Given the description of an element on the screen output the (x, y) to click on. 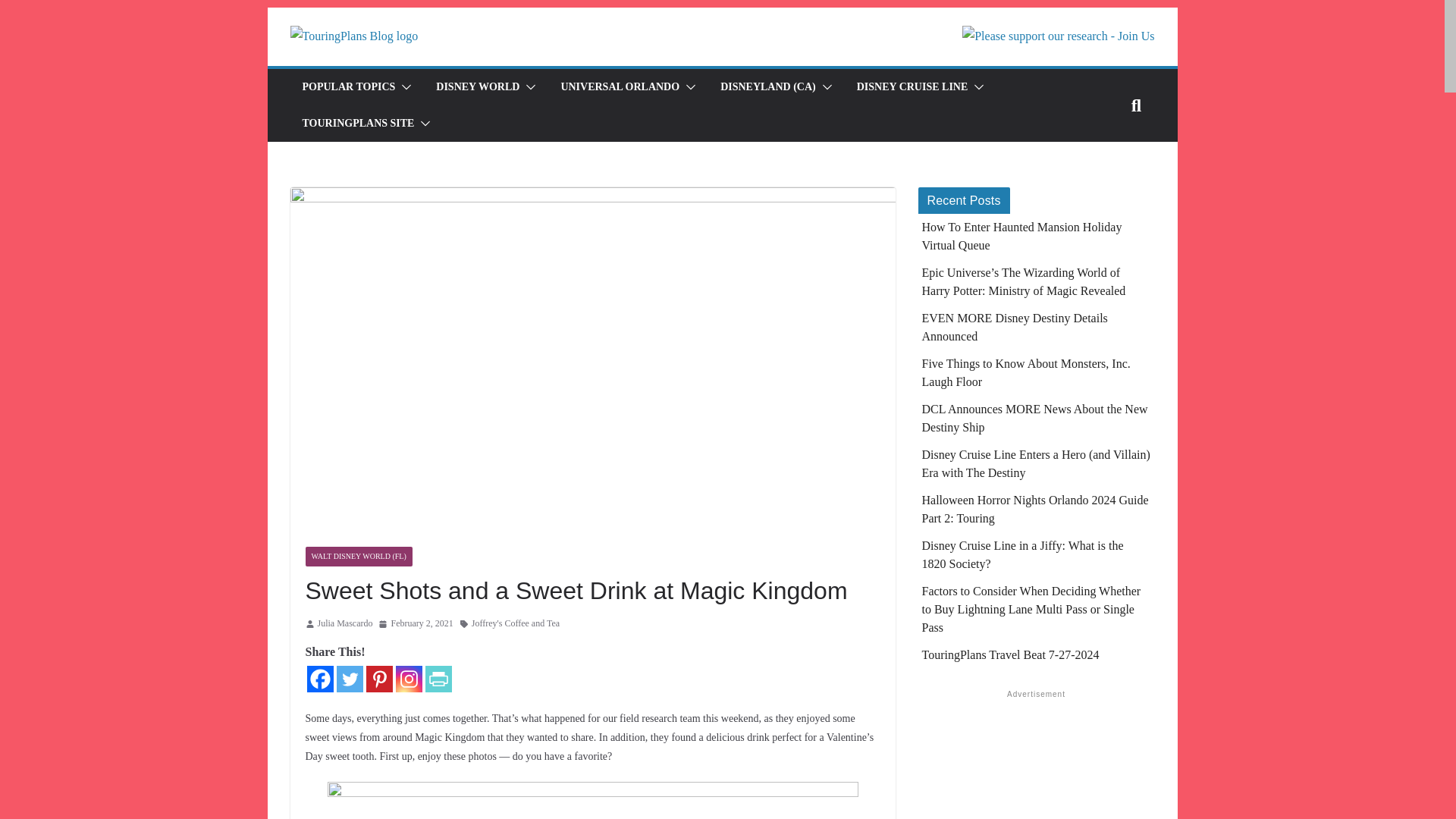
UNIVERSAL ORLANDO (619, 86)
Julia Mascardo (344, 623)
PrintFriendly (438, 678)
Facebook (319, 678)
Pinterest (378, 678)
Instagram (409, 678)
4:30 pm (415, 623)
DISNEY WORLD (477, 86)
DISNEY CRUISE LINE (912, 86)
TOURINGPLANS SITE (357, 123)
Twitter (349, 678)
POPULAR TOPICS (347, 86)
